Given the description of an element on the screen output the (x, y) to click on. 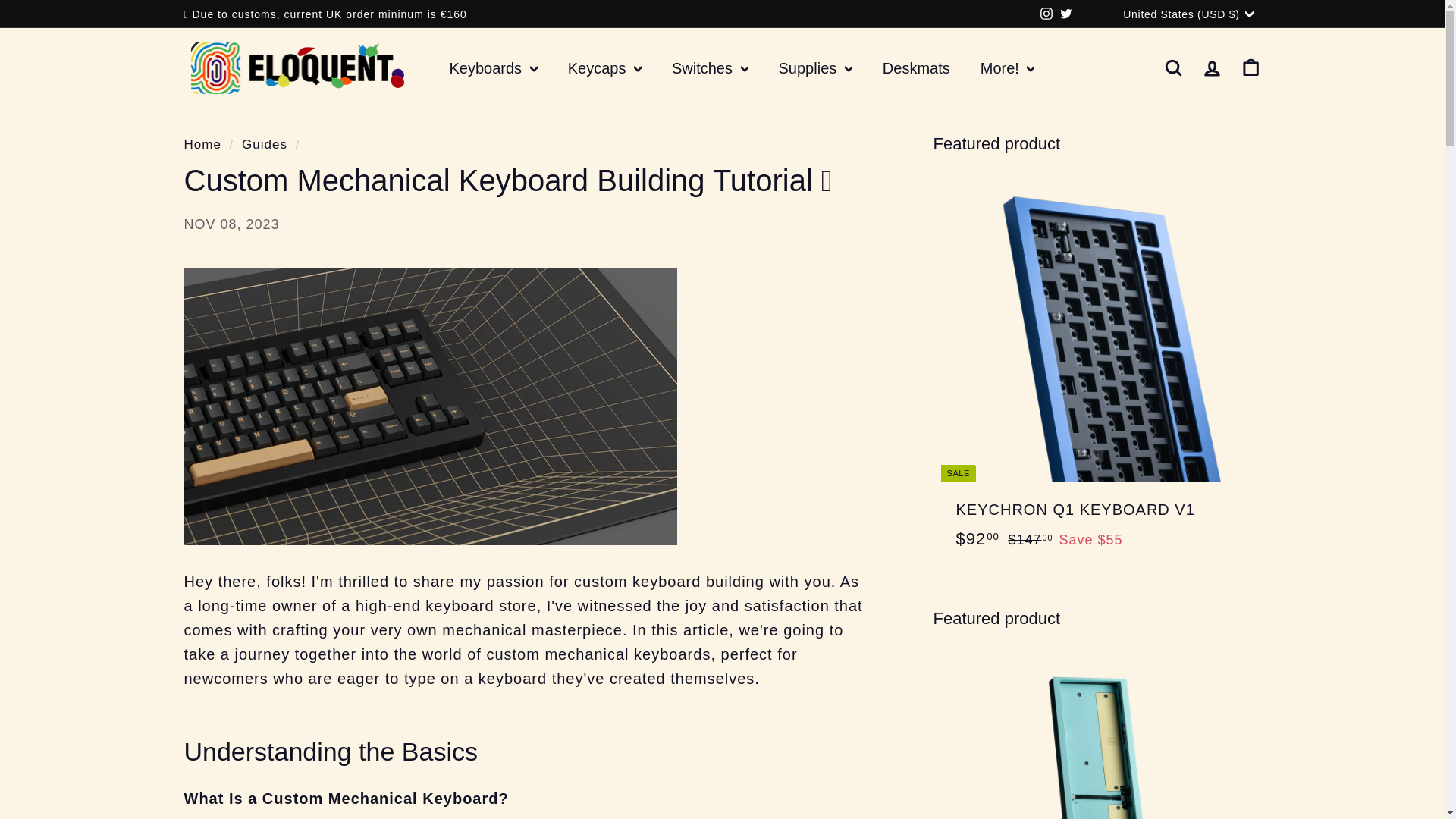
ELOQUENT CLICKS on Twitter (1066, 13)
twitter (1065, 13)
instagram (1046, 13)
Back to the frontpage (202, 144)
ELOQUENT CLICKS on Instagram (1046, 13)
